Given the description of an element on the screen output the (x, y) to click on. 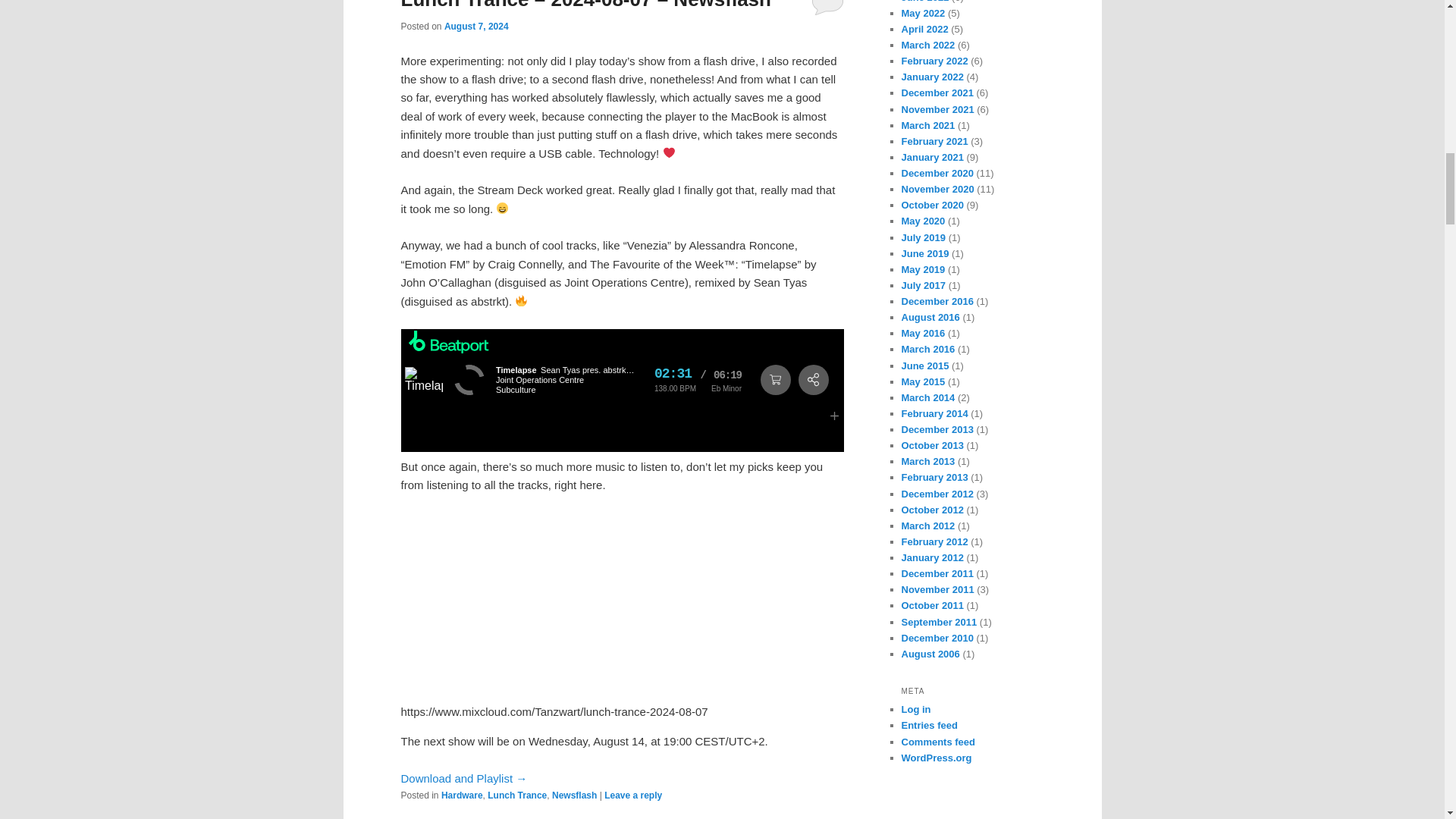
Newsflash (573, 795)
Leave a reply (633, 795)
Lunch Trance (517, 795)
22:02 (476, 26)
Hardware (462, 795)
August 7, 2024 (476, 26)
